Given the description of an element on the screen output the (x, y) to click on. 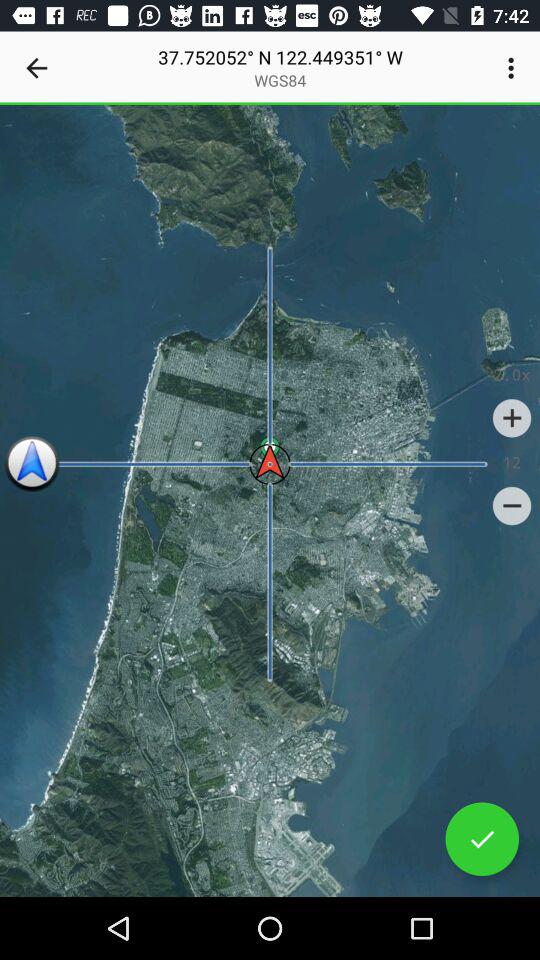
tap item below the 12 item (512, 505)
